Given the description of an element on the screen output the (x, y) to click on. 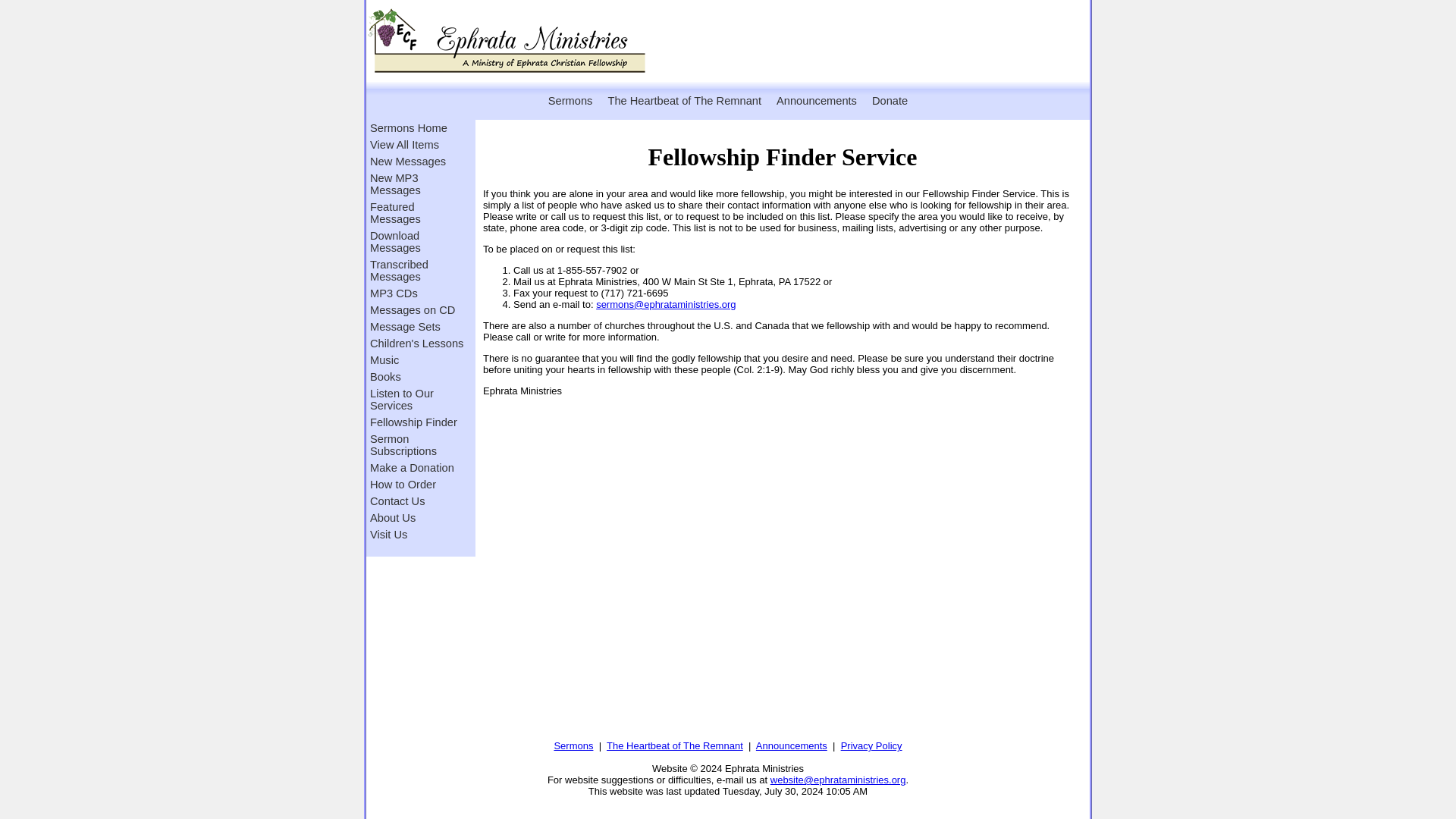
Sermons (572, 745)
Featured Messages (417, 212)
New MP3 Messages (417, 184)
The Heartbeat of The Remnant (674, 745)
Listen to Our Services (417, 399)
View All Items (417, 144)
MP3 CDs (417, 293)
How to Order (417, 484)
Announcements (791, 745)
The Heartbeat of The Remnant (683, 99)
Contact Us (417, 500)
Announcements (816, 99)
Children's Lessons (417, 343)
Sermons Home (417, 127)
Books (417, 376)
